Given the description of an element on the screen output the (x, y) to click on. 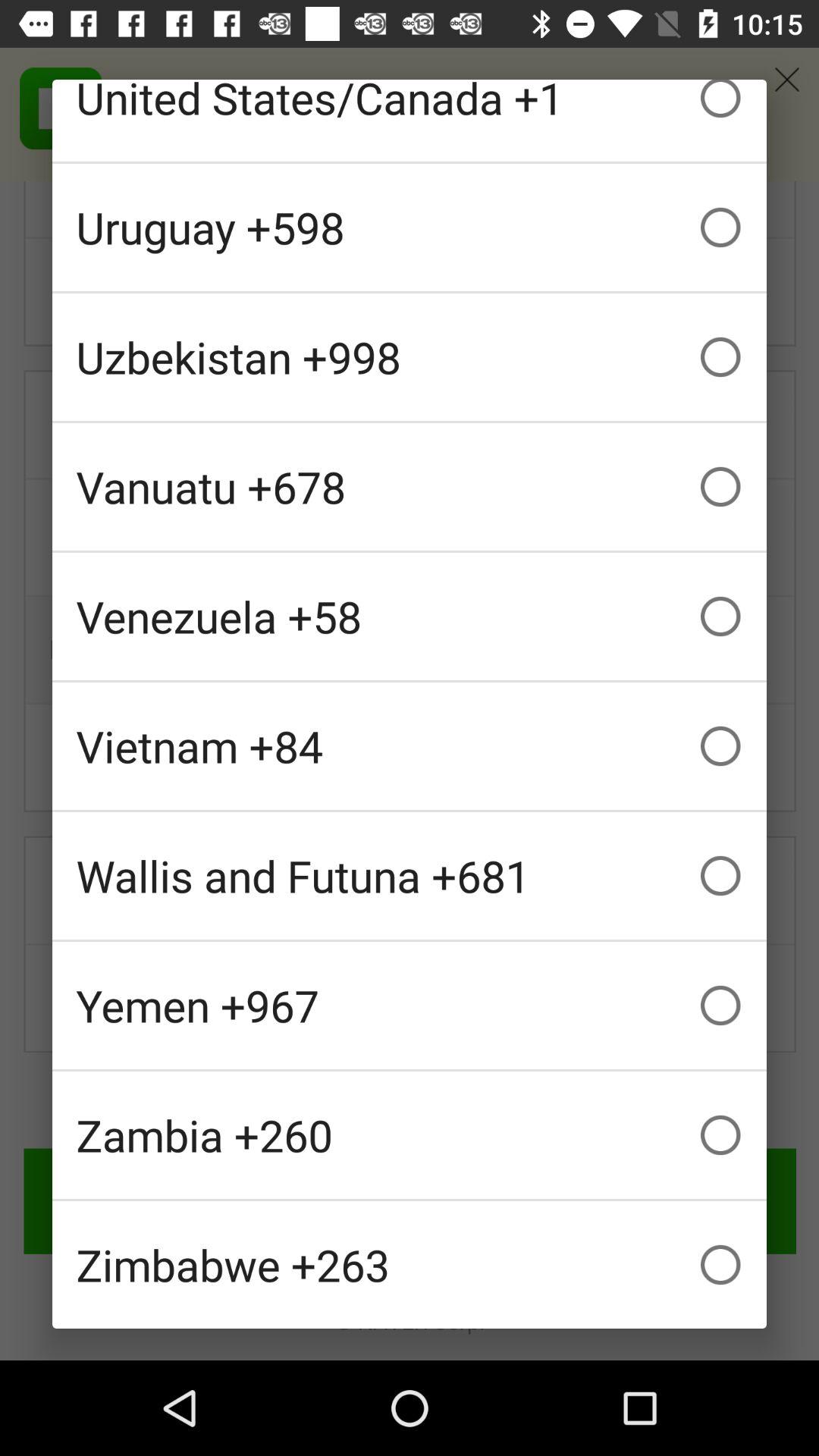
flip until the vanuatu +678 icon (409, 486)
